Given the description of an element on the screen output the (x, y) to click on. 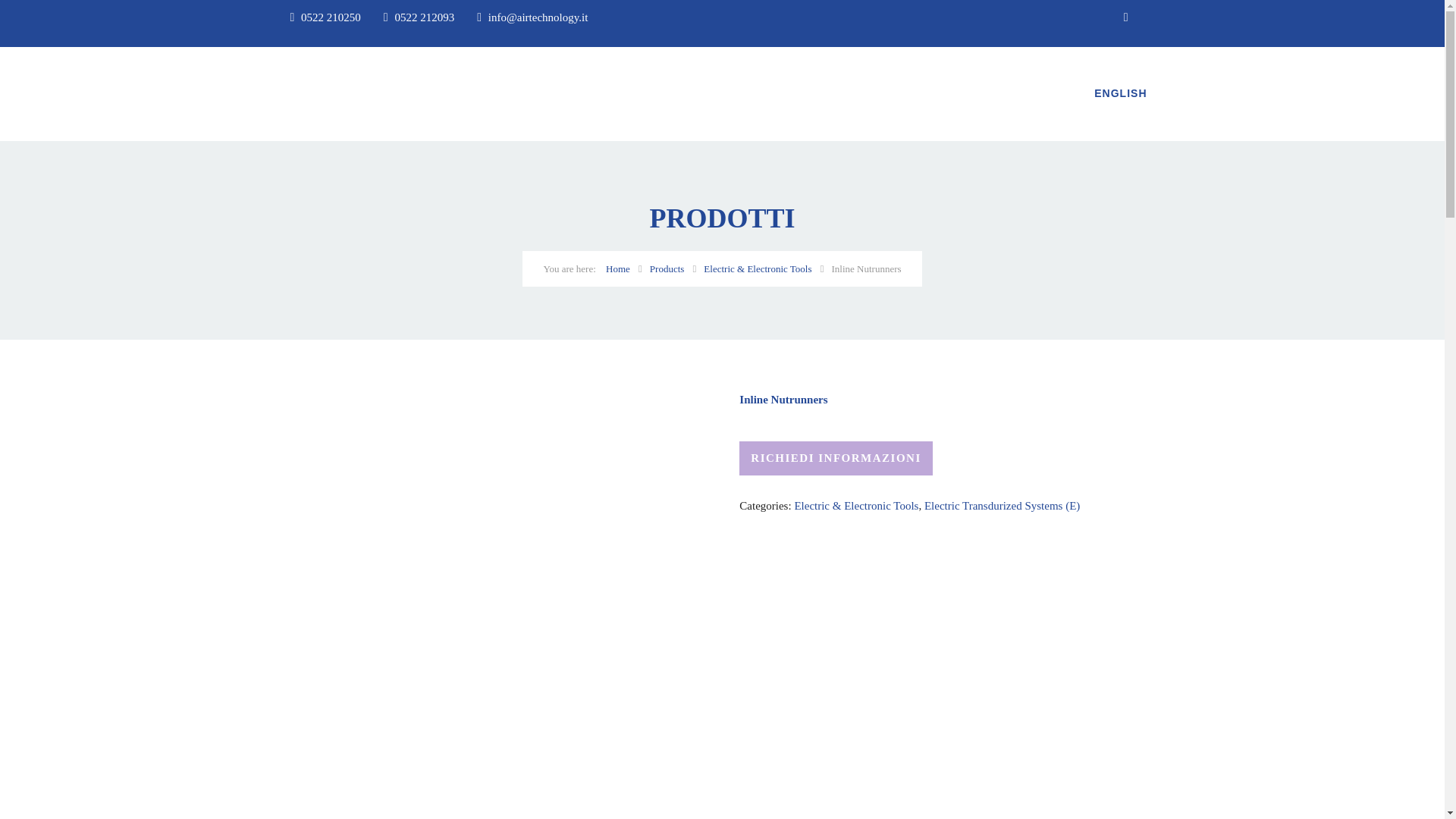
Home (617, 268)
Products (666, 268)
Richiedi informazioni (835, 458)
